Given the description of an element on the screen output the (x, y) to click on. 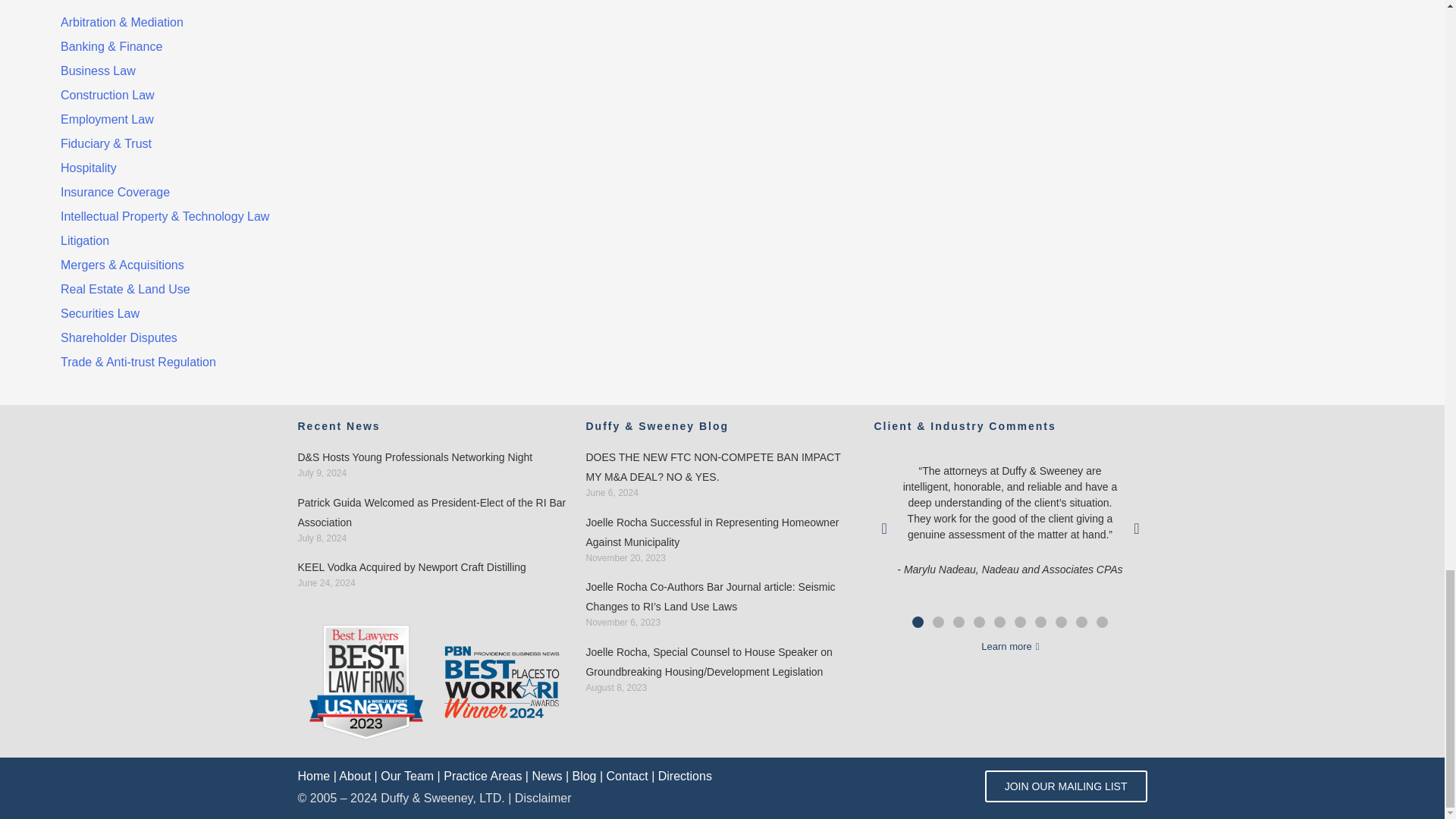
Disclaimer (543, 797)
